Given the description of an element on the screen output the (x, y) to click on. 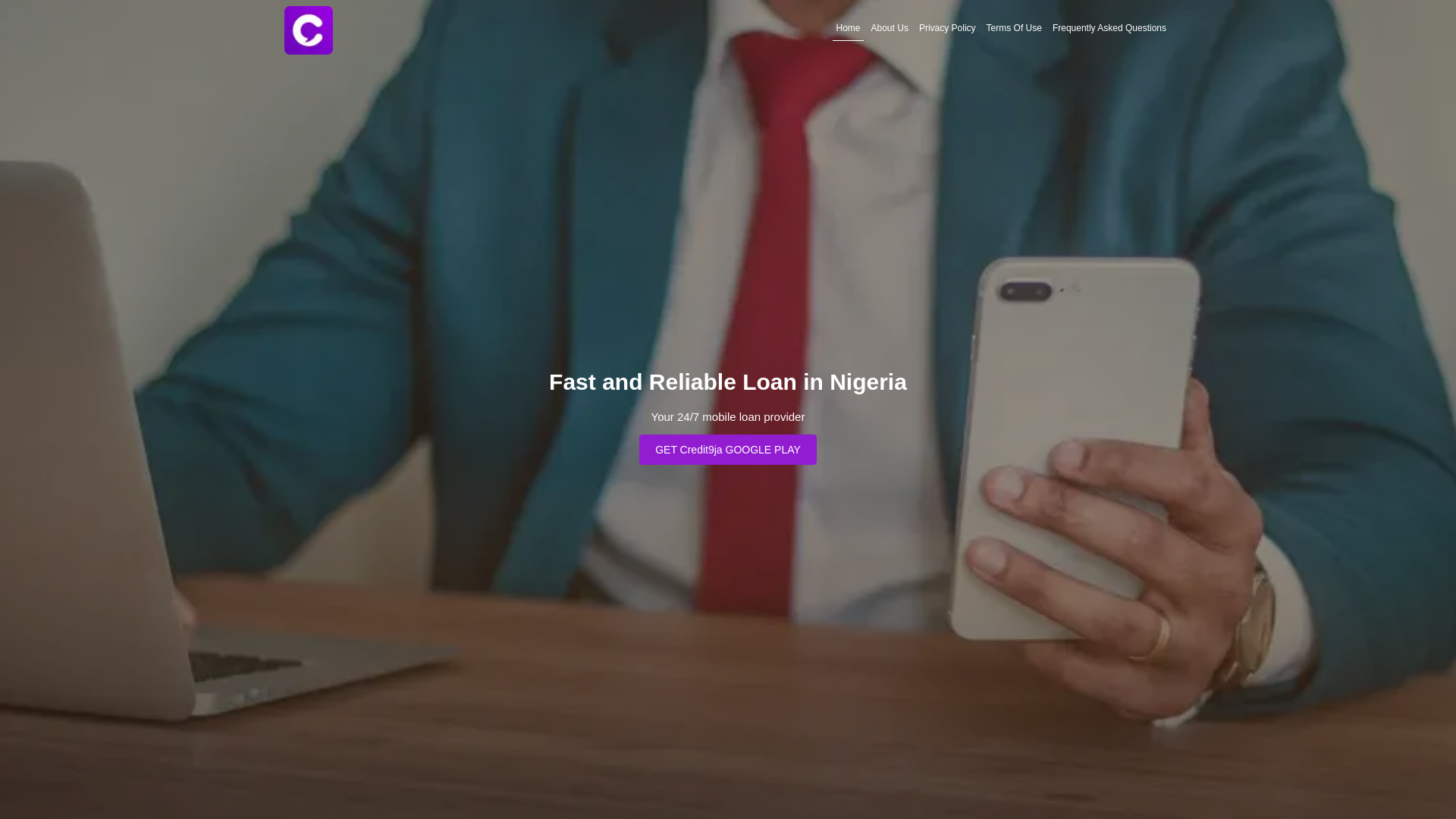
About Us Element type: text (889, 28)
Privacy Policy Element type: text (947, 28)
Home Element type: text (848, 28)
GET Credit9ja GOOGLE PLAY Element type: text (727, 448)
Frequently Asked Questions Element type: text (1109, 28)
GET Credit9ja GOOGLE PLAY Element type: text (727, 449)
Terms Of Use Element type: text (1014, 28)
